Given the description of an element on the screen output the (x, y) to click on. 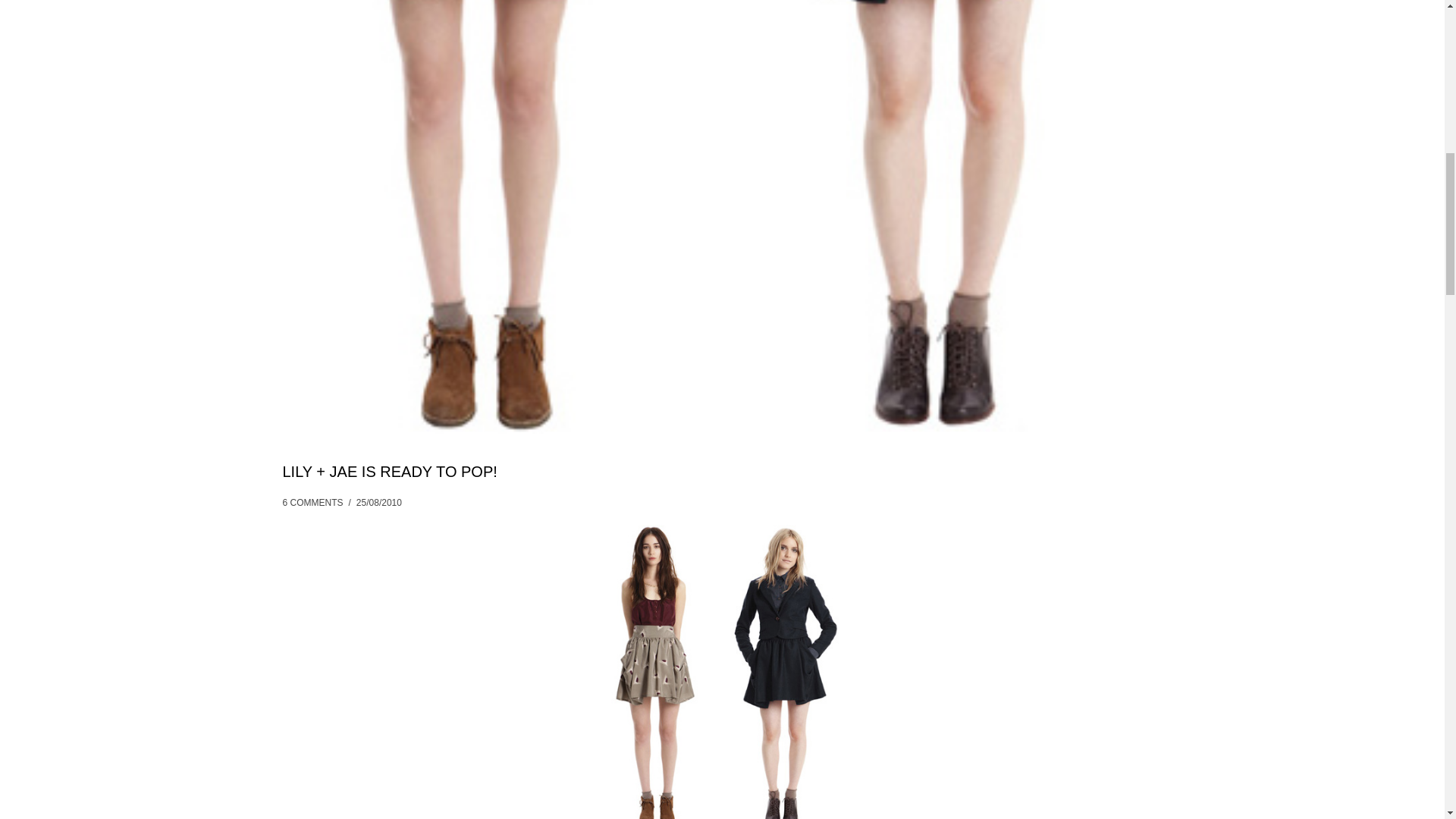
6 COMMENTS (312, 502)
